Given the description of an element on the screen output the (x, y) to click on. 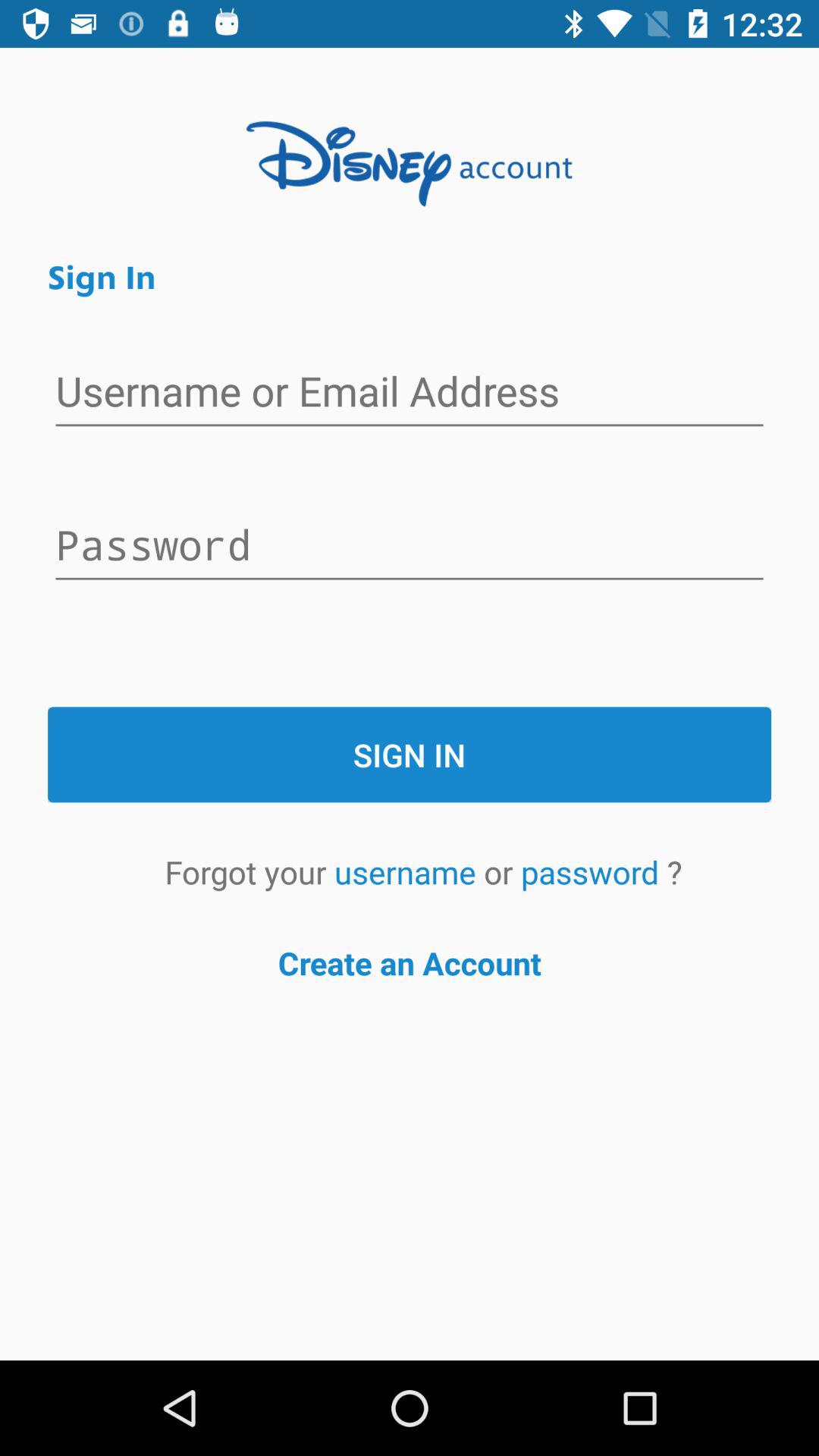
select the item to the left of the or (409, 871)
